Given the description of an element on the screen output the (x, y) to click on. 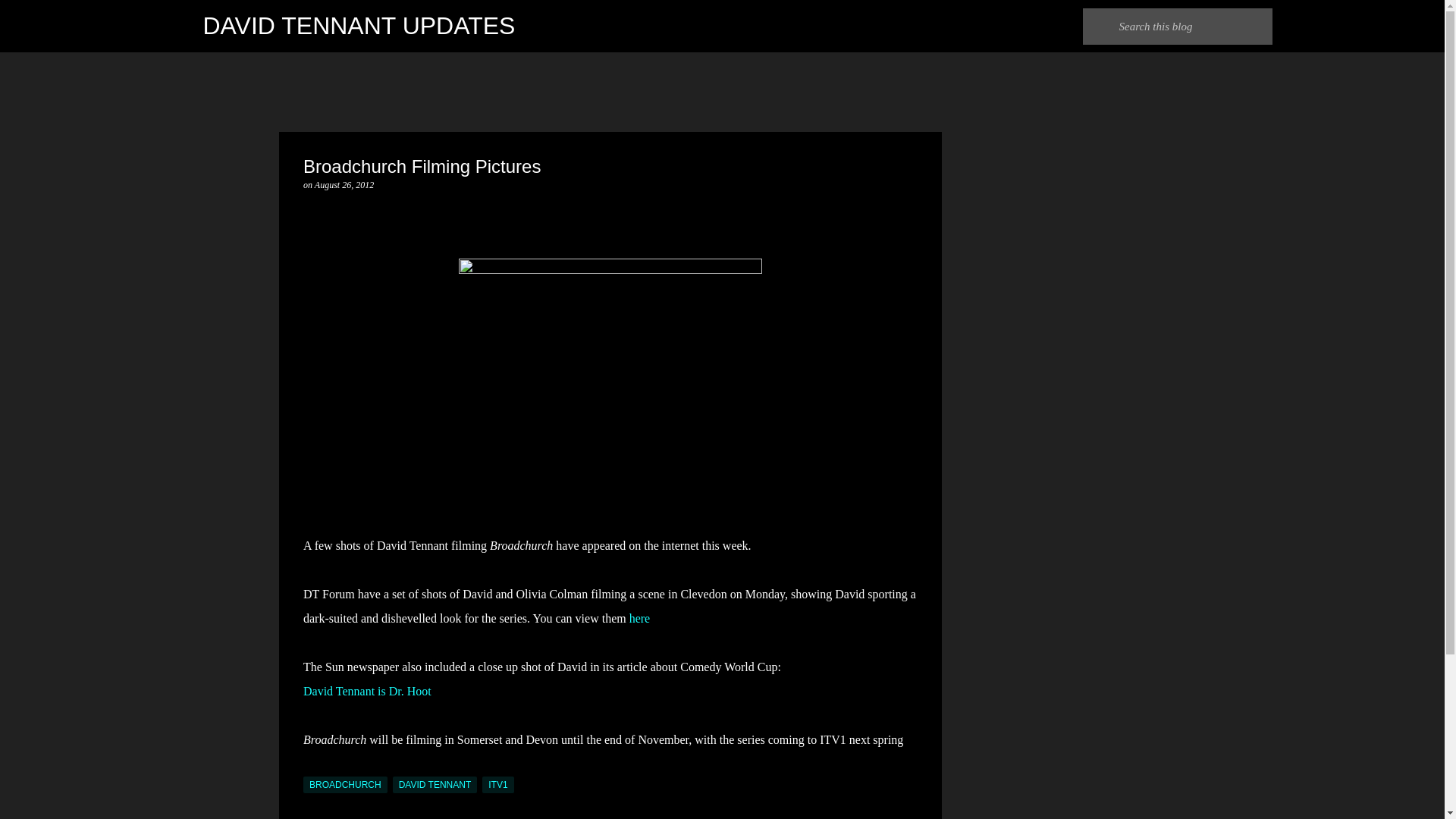
BROADCHURCH (344, 784)
DAVID TENNANT (435, 784)
here (639, 617)
Email Post (311, 767)
David Tennant is Dr. Hoot (366, 690)
permanent link (344, 184)
August 26, 2012 (344, 184)
ITV1 (497, 784)
DAVID TENNANT UPDATES (359, 25)
